Given the description of an element on the screen output the (x, y) to click on. 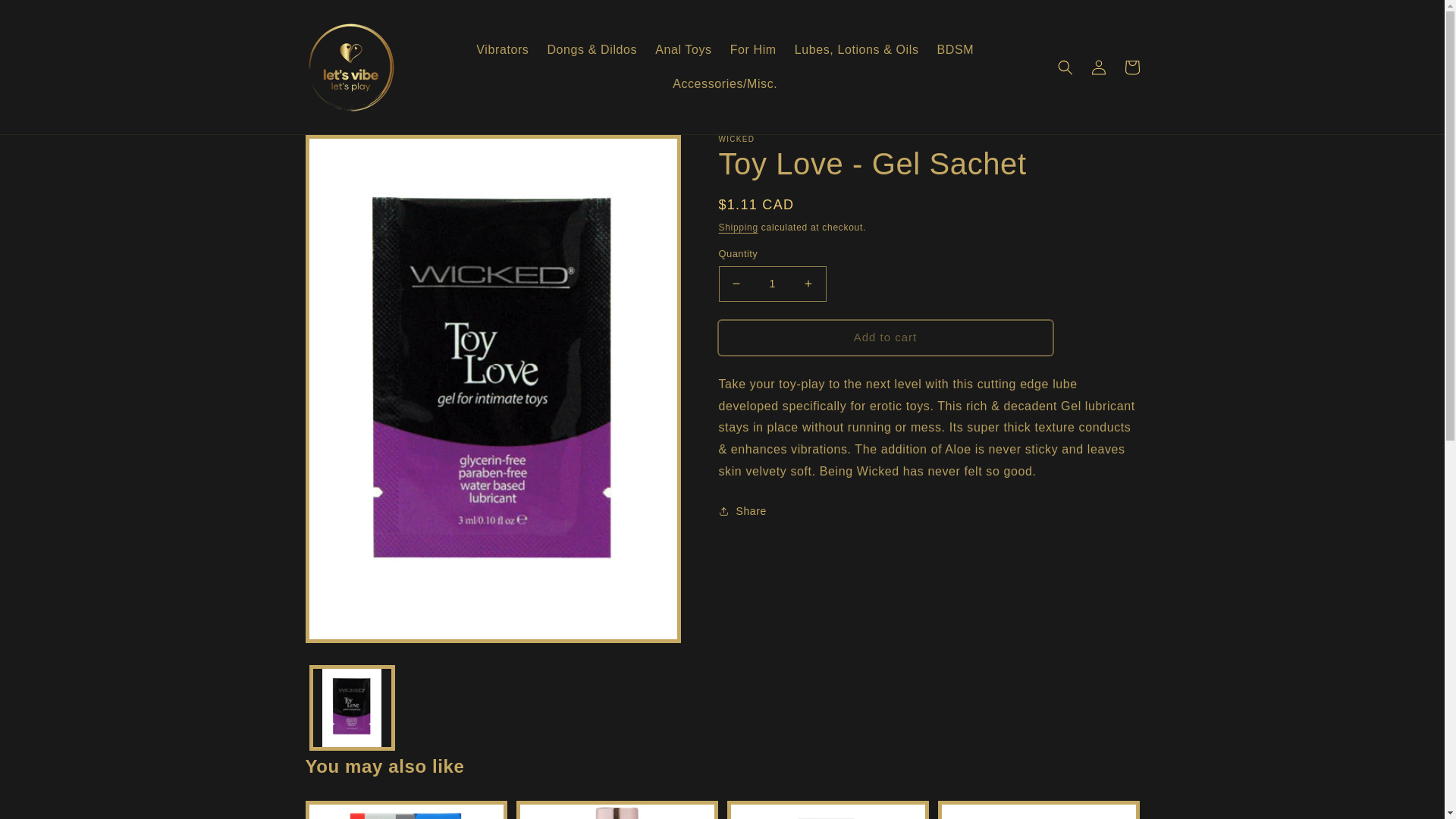
Log in (1098, 66)
Skip to content (45, 16)
Decrease quantity for Toy Love - Gel Sachet (735, 284)
Anal Toys (683, 50)
Add to cart (885, 337)
BDSM (956, 50)
Skip to product information (350, 151)
1 (773, 284)
Increase quantity for Toy Love - Gel Sachet (808, 284)
Vibrators (502, 50)
